Given the description of an element on the screen output the (x, y) to click on. 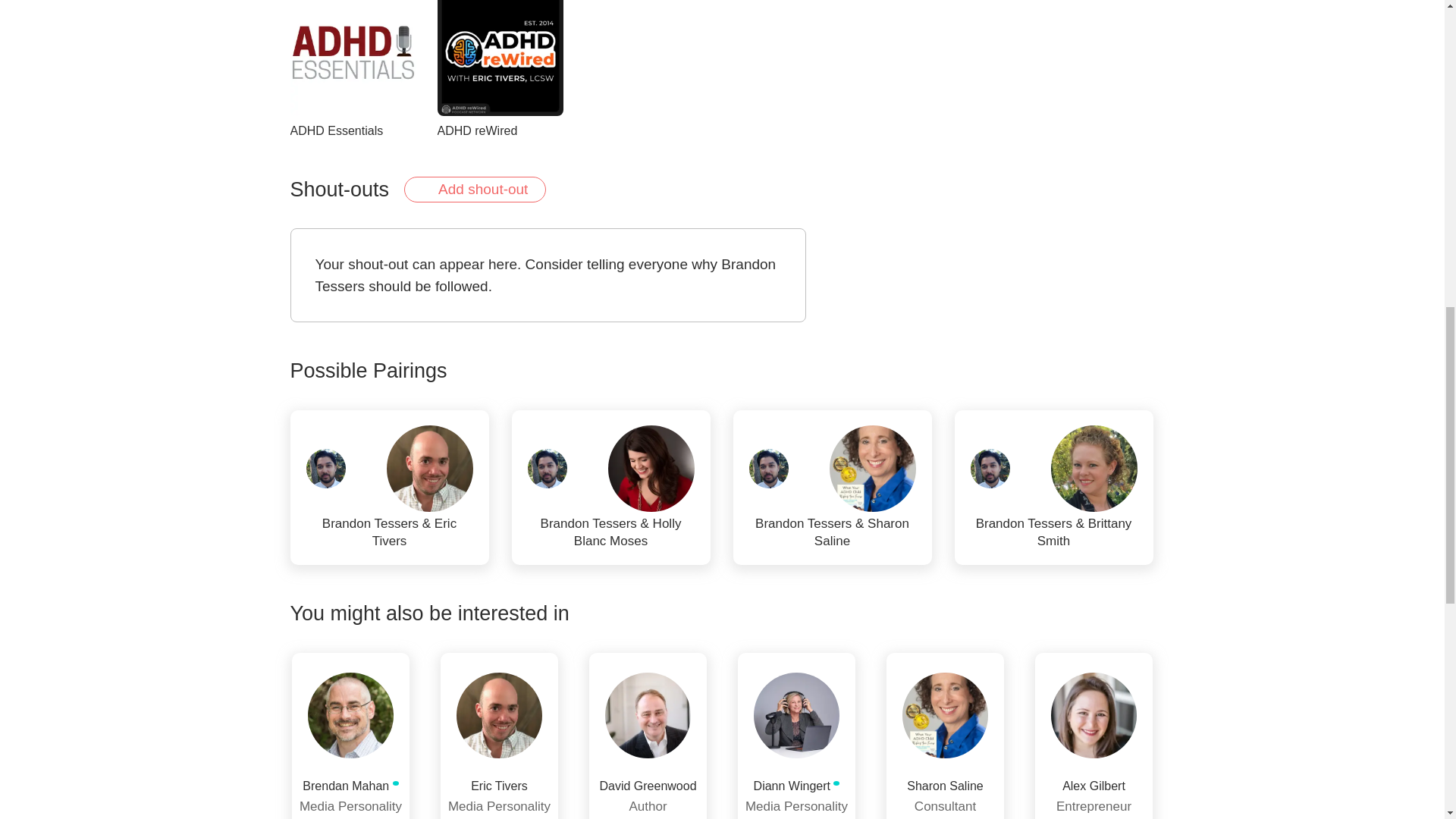
ADHD Podcast for Parents and Educators (351, 70)
